Given the description of an element on the screen output the (x, y) to click on. 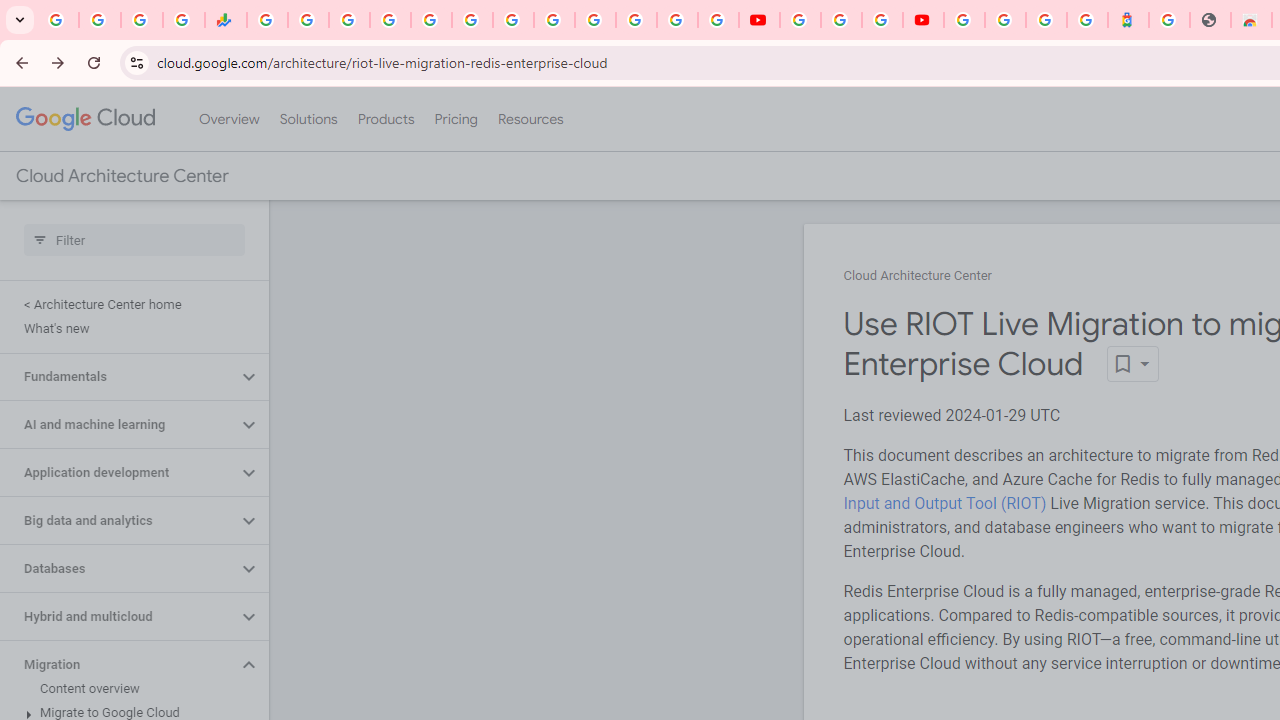
Atour Hotel - Google hotels (1128, 20)
Resources (530, 119)
AI and machine learning (118, 425)
Products (385, 119)
Android TV Policies and Guidelines - Transparency Center (512, 20)
Migration (118, 664)
Google Cloud (84, 118)
Databases (118, 569)
Sign in - Google Accounts (1005, 20)
Hybrid and multicloud (118, 616)
Google Account Help (840, 20)
